Given the description of an element on the screen output the (x, y) to click on. 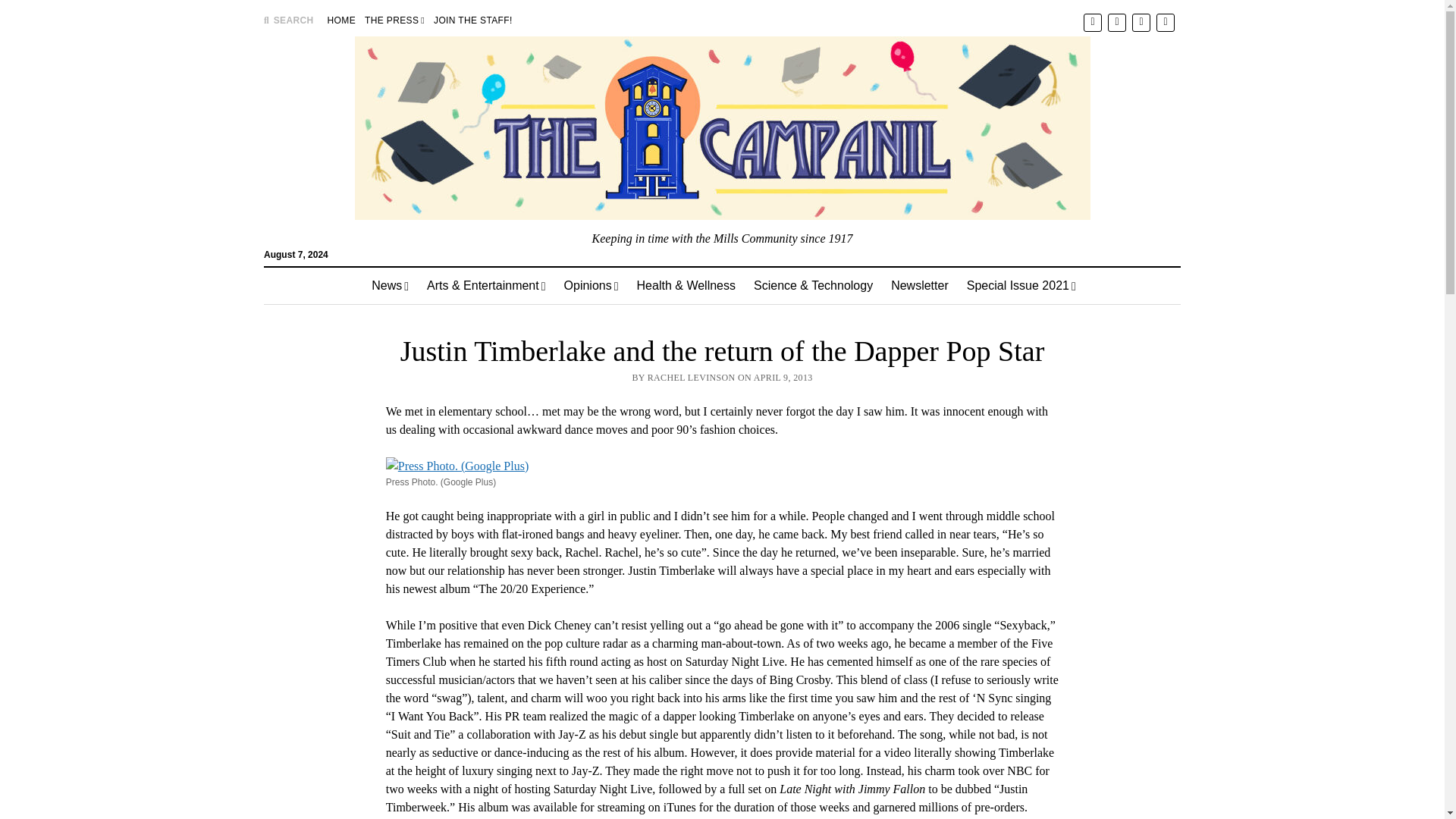
SEARCH (288, 20)
Opinions (590, 285)
THE PRESS (395, 20)
Search (945, 129)
HOME (341, 20)
JOIN THE STAFF! (472, 20)
Special Issue 2021 (1021, 285)
Newsletter (920, 285)
News (389, 285)
